Given the description of an element on the screen output the (x, y) to click on. 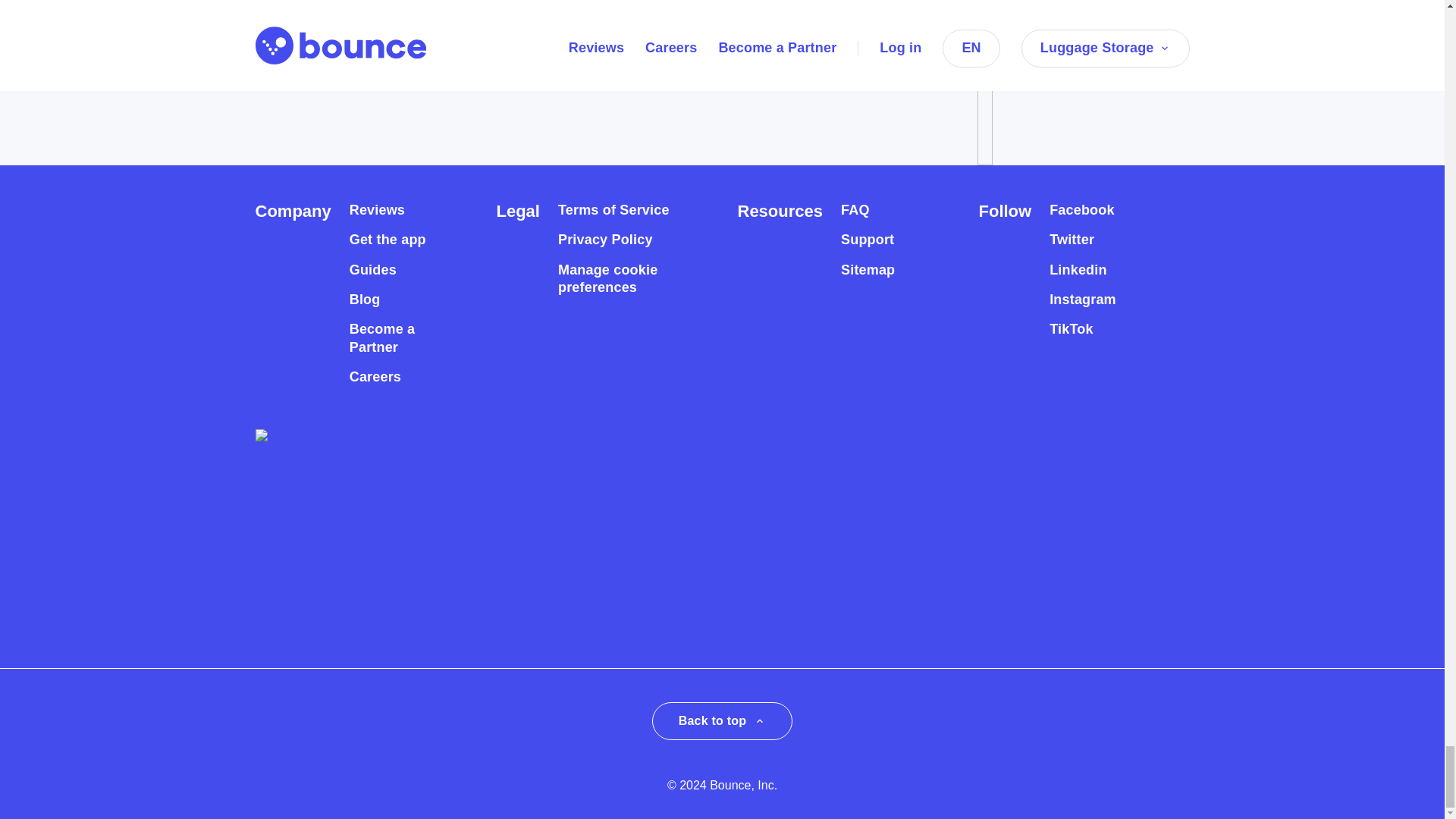
Become a Partner (395, 338)
Guides (372, 270)
Blog (364, 299)
Reviews (376, 210)
Careers (375, 376)
Download (321, 31)
Privacy Policy (604, 239)
Terms of Service (613, 210)
Get the app (387, 239)
